Given the description of an element on the screen output the (x, y) to click on. 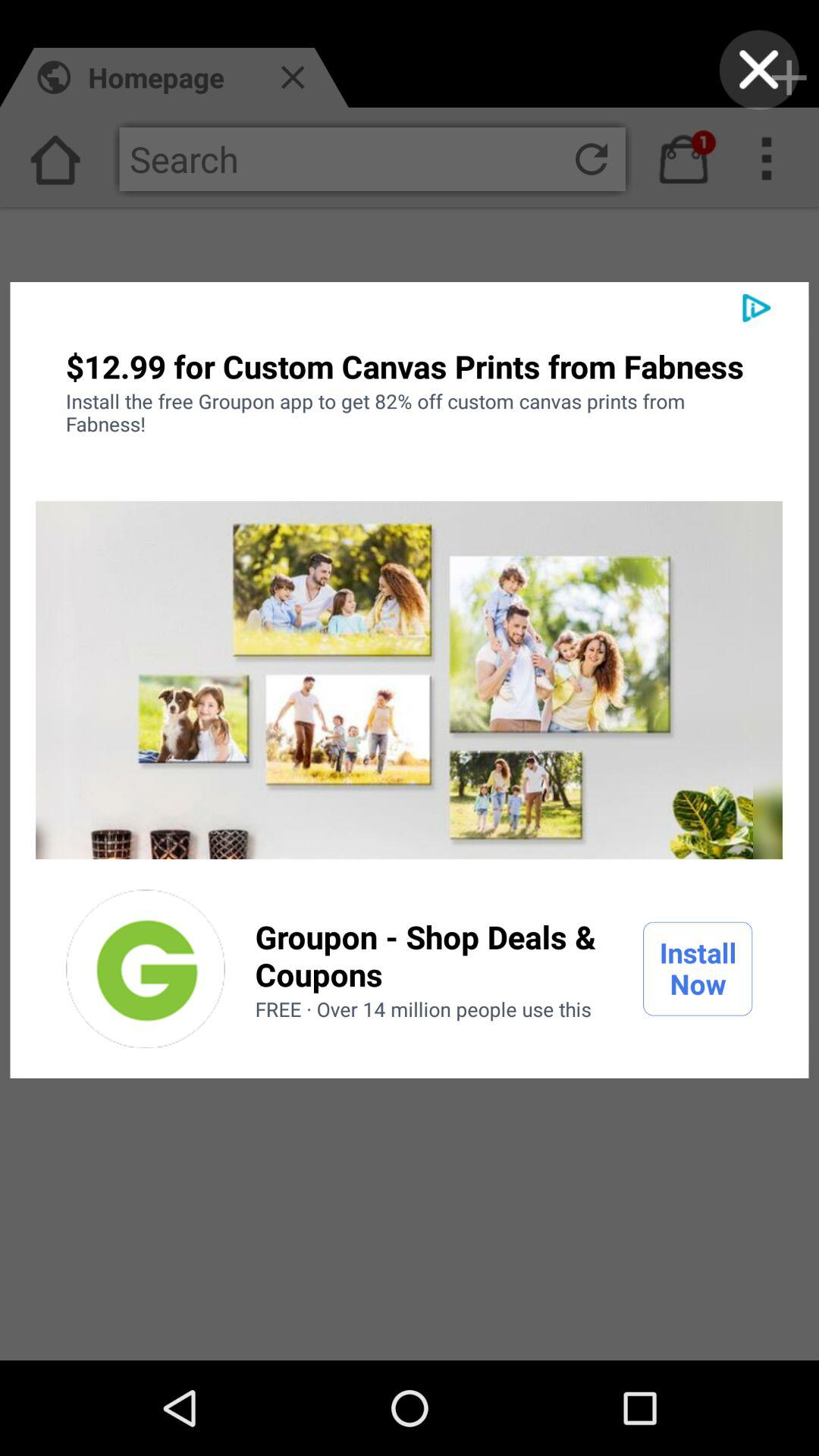
open icon to the right of the groupon shop deals icon (697, 968)
